Given the description of an element on the screen output the (x, y) to click on. 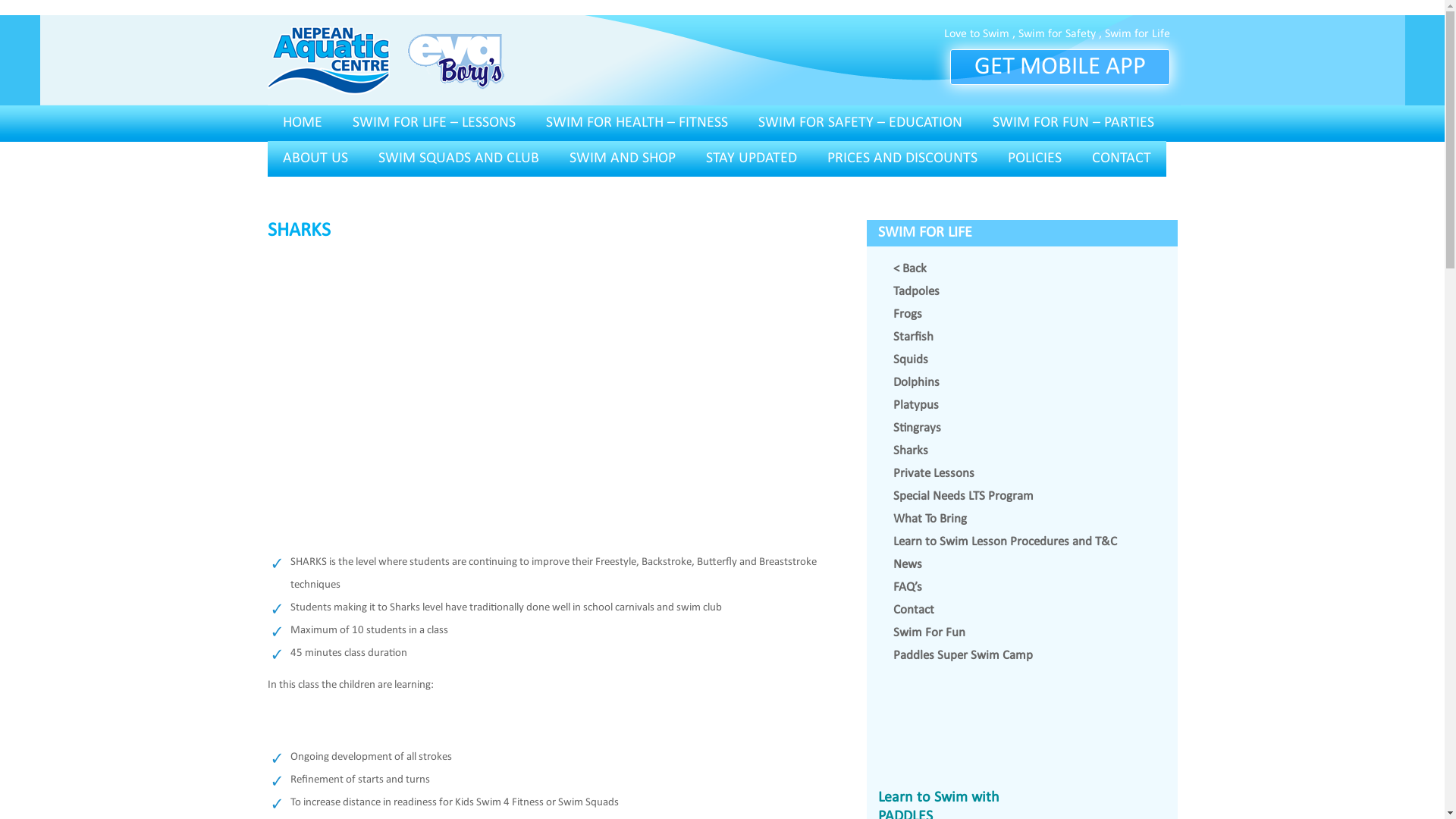
ABOUT US Element type: text (314, 158)
Paddles Super Swim Camp Element type: text (962, 655)
SWIM AND SHOP Element type: text (621, 158)
Contact Element type: text (913, 609)
Stingrays Element type: text (917, 427)
Squids Element type: text (910, 359)
Starfish Element type: text (913, 336)
Learn to Swim Lesson Procedures and T&C Element type: text (1005, 541)
What To Bring Element type: text (929, 518)
CONTACT Element type: text (1121, 158)
< Back Element type: text (909, 268)
SWIM SQUADS AND CLUB Element type: text (457, 158)
News Element type: text (907, 564)
PRICES AND DISCOUNTS Element type: text (901, 158)
POLICIES Element type: text (1033, 158)
Private Lessons Element type: text (933, 473)
Frogs Element type: text (907, 313)
HOME Element type: text (301, 123)
GET MOBILE APP Element type: text (1059, 66)
Platypus Element type: text (915, 404)
STAY UPDATED Element type: text (750, 158)
Tadpoles Element type: text (916, 291)
Sharks Element type: text (910, 450)
Swim For Fun Element type: text (929, 632)
Dolphins Element type: text (916, 382)
Special Needs LTS Program Element type: text (963, 495)
